Given the description of an element on the screen output the (x, y) to click on. 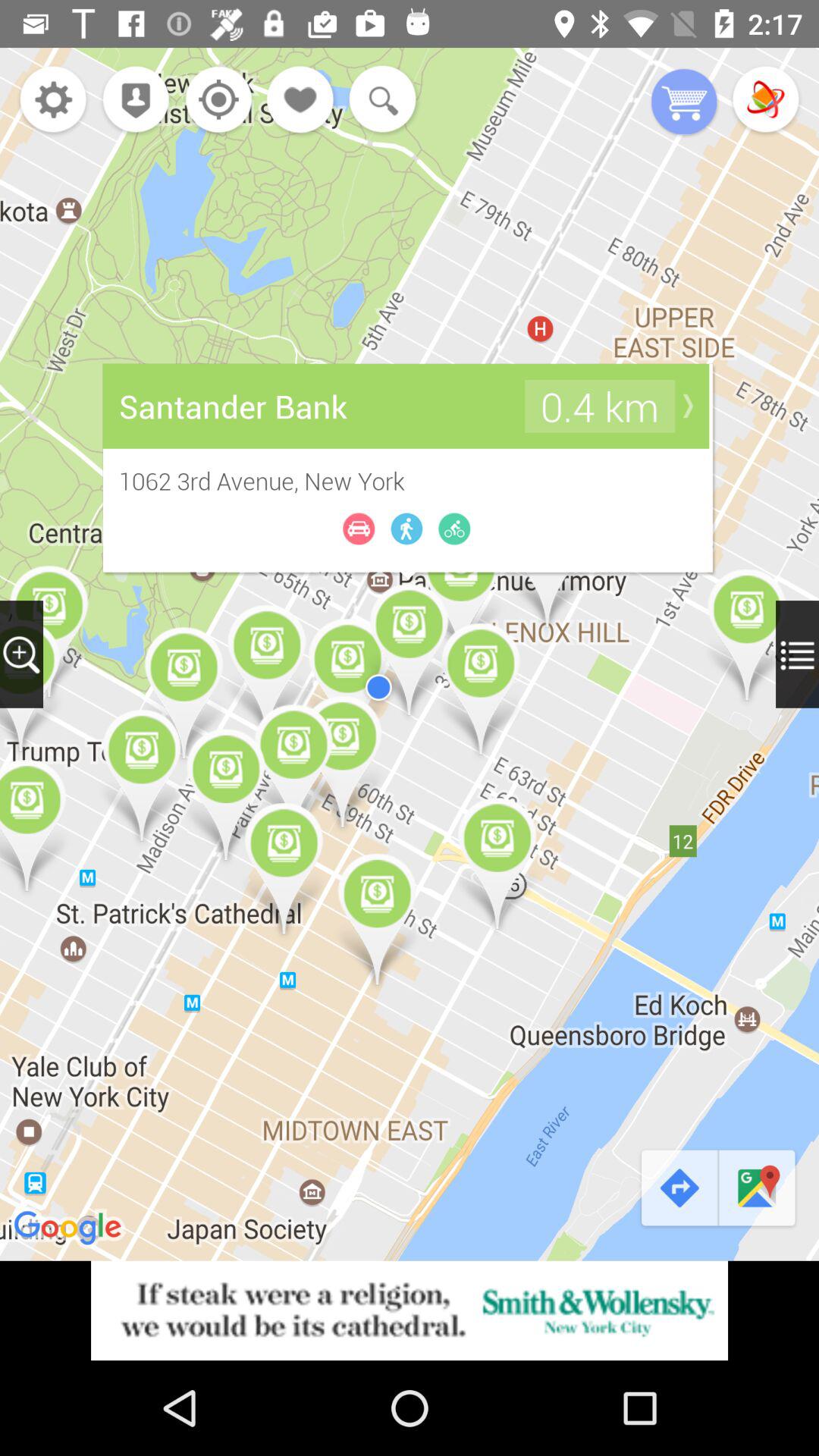
zoom button (21, 654)
